Given the description of an element on the screen output the (x, y) to click on. 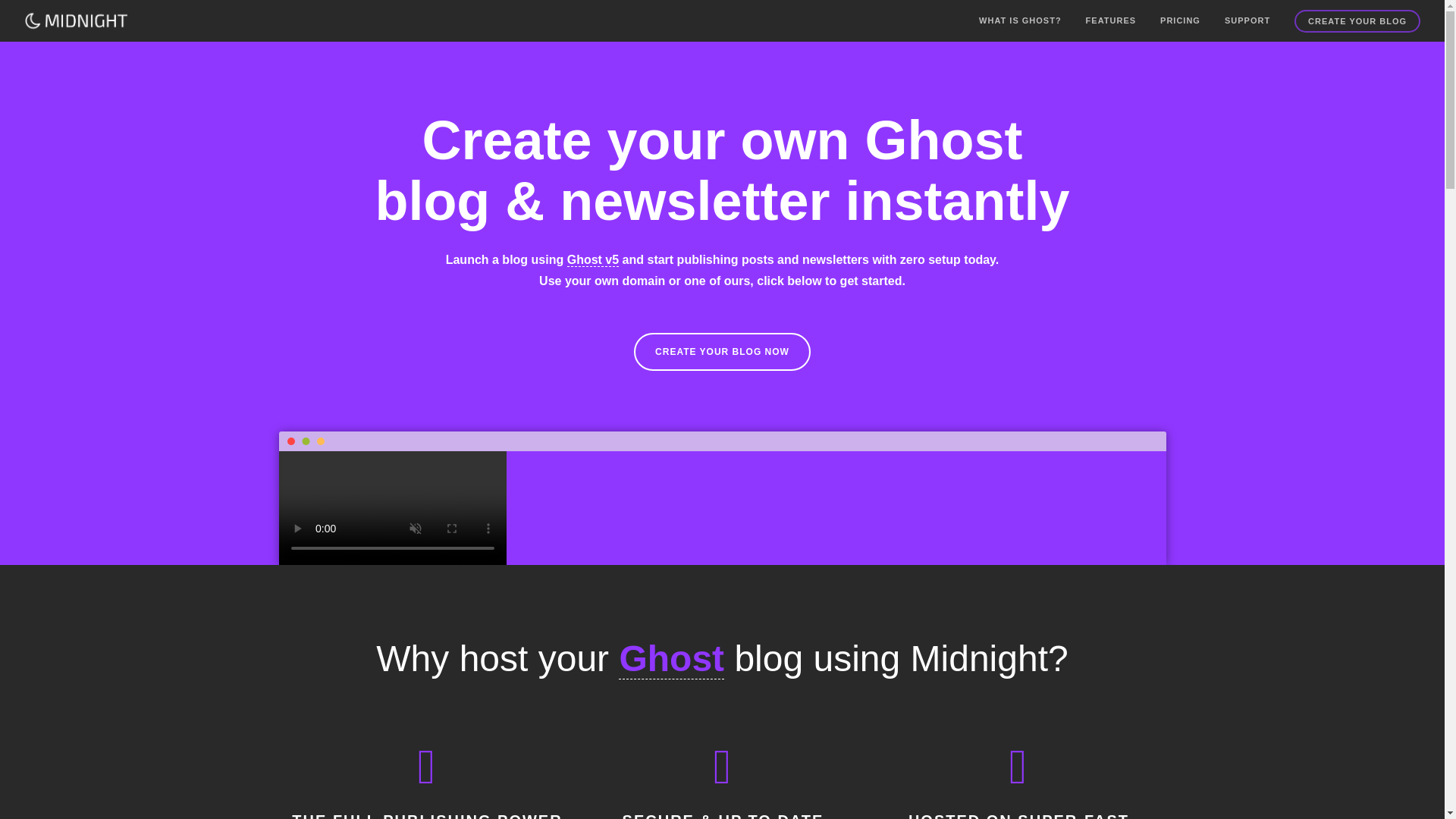
PRICING (1179, 21)
WHAT IS GHOST? (1019, 21)
What is Ghost? Click to learn more. (592, 259)
FEATURES (1110, 21)
Ghost (670, 658)
CREATE YOUR BLOG (1357, 20)
SUPPORT (1246, 21)
CREATE YOUR BLOG NOW (721, 351)
Ghost v5 (592, 259)
What is Ghost? Click to learn more. (670, 658)
